Given the description of an element on the screen output the (x, y) to click on. 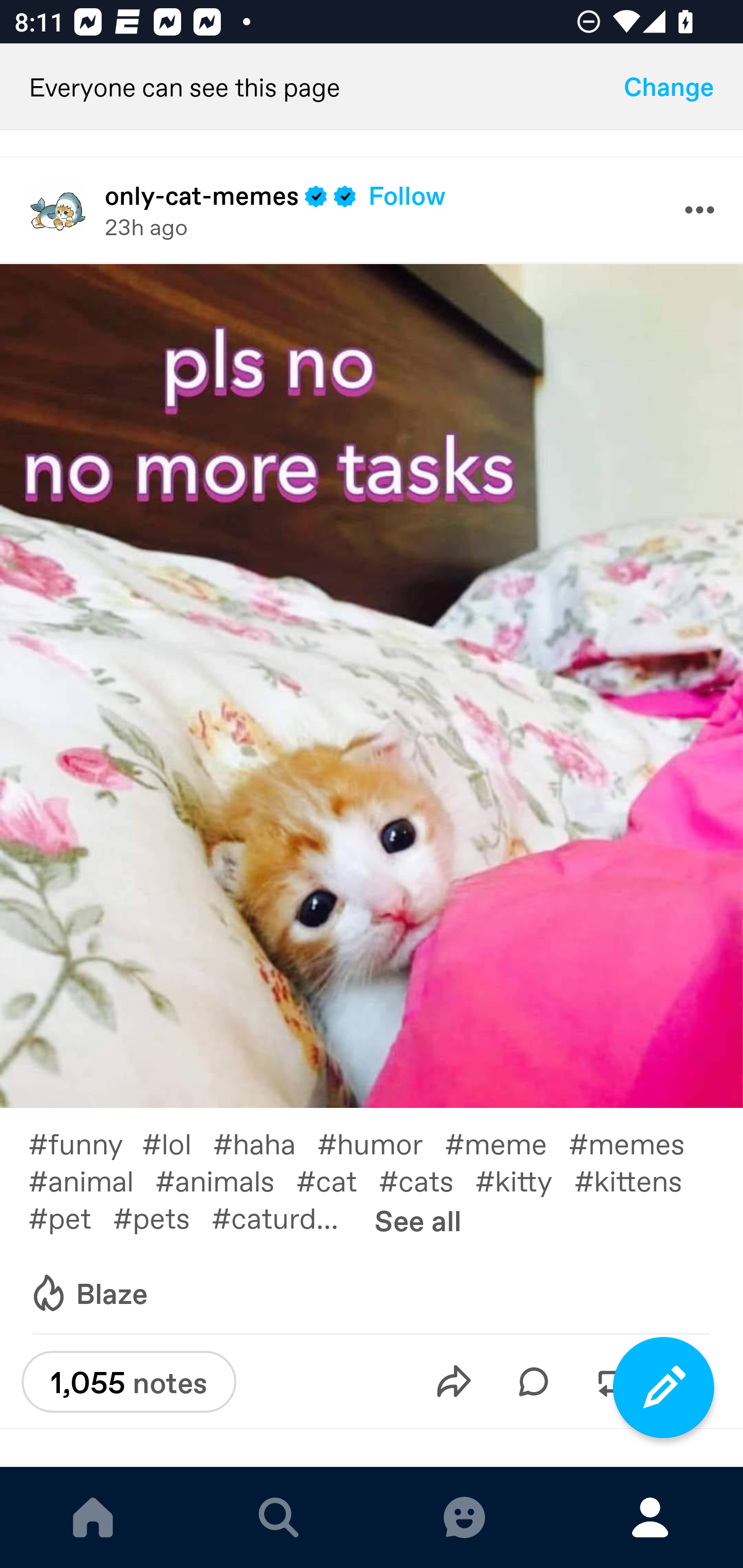
Change (669, 86)
Follow (406, 194)
#funny (84, 1142)
#lol (177, 1142)
#haha (265, 1142)
#humor (381, 1142)
#meme (506, 1142)
#memes (637, 1142)
#animal (91, 1179)
#animals (225, 1179)
#cat (337, 1179)
#cats (426, 1179)
#kitty (524, 1179)
#kittens (638, 1179)
#pet (70, 1216)
#pets (161, 1216)
#caturd… (285, 1216)
See all (417, 1219)
Blaze Blaze Blaze (88, 1293)
Share post to message (454, 1381)
Reply (533, 1381)
Compose a new post (663, 1387)
1,055 notes (128, 1381)
DASHBOARD (92, 1517)
EXPLORE (278, 1517)
MESSAGES (464, 1517)
ACCOUNT (650, 1517)
